Given the description of an element on the screen output the (x, y) to click on. 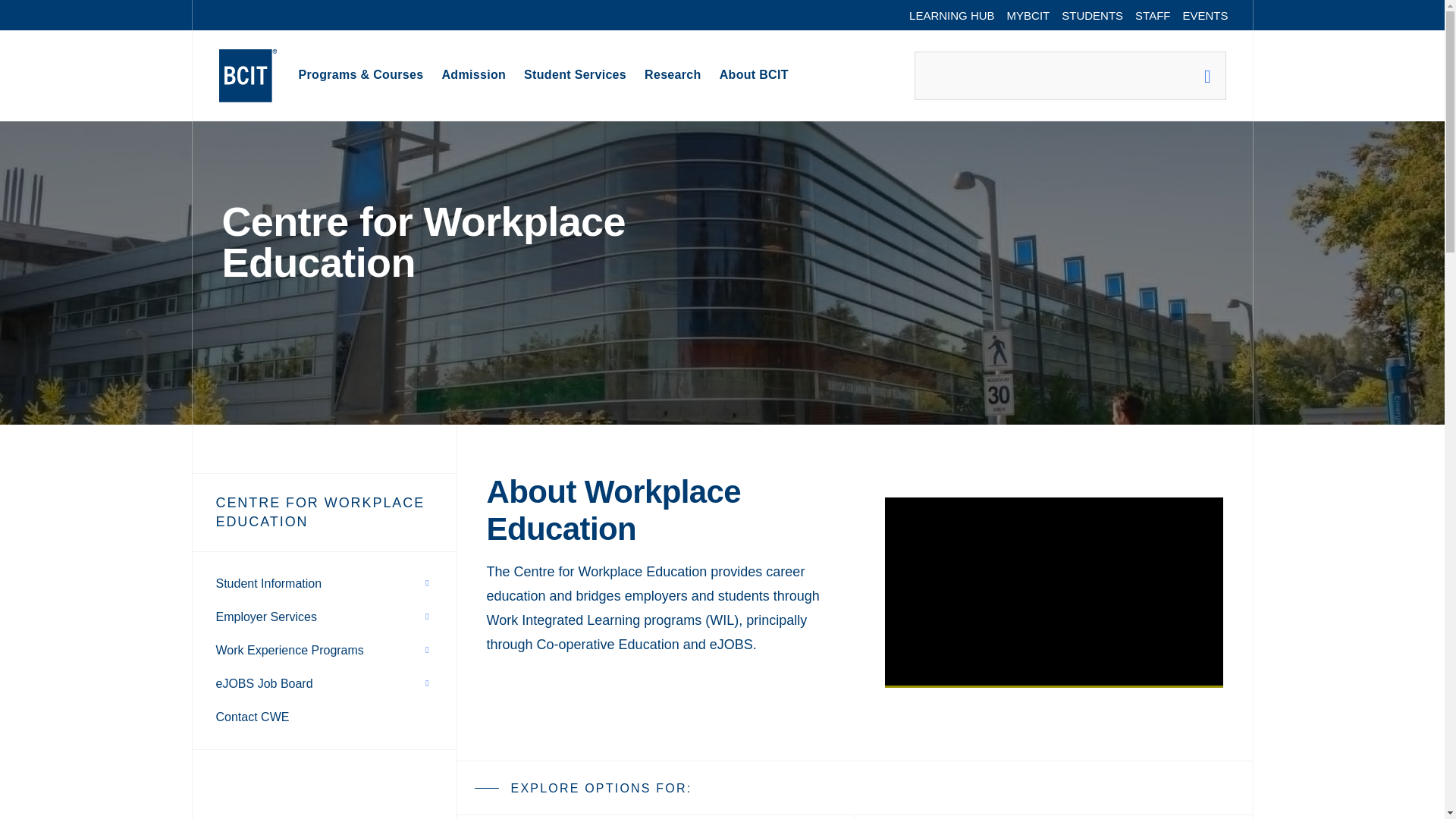
LEARNING HUB (951, 15)
MYBCIT (1029, 15)
EVENTS (1204, 15)
STUDENTS (1092, 15)
STAFF (1152, 15)
Play Video (1054, 592)
Admission (473, 75)
Student Services (574, 75)
